Given the description of an element on the screen output the (x, y) to click on. 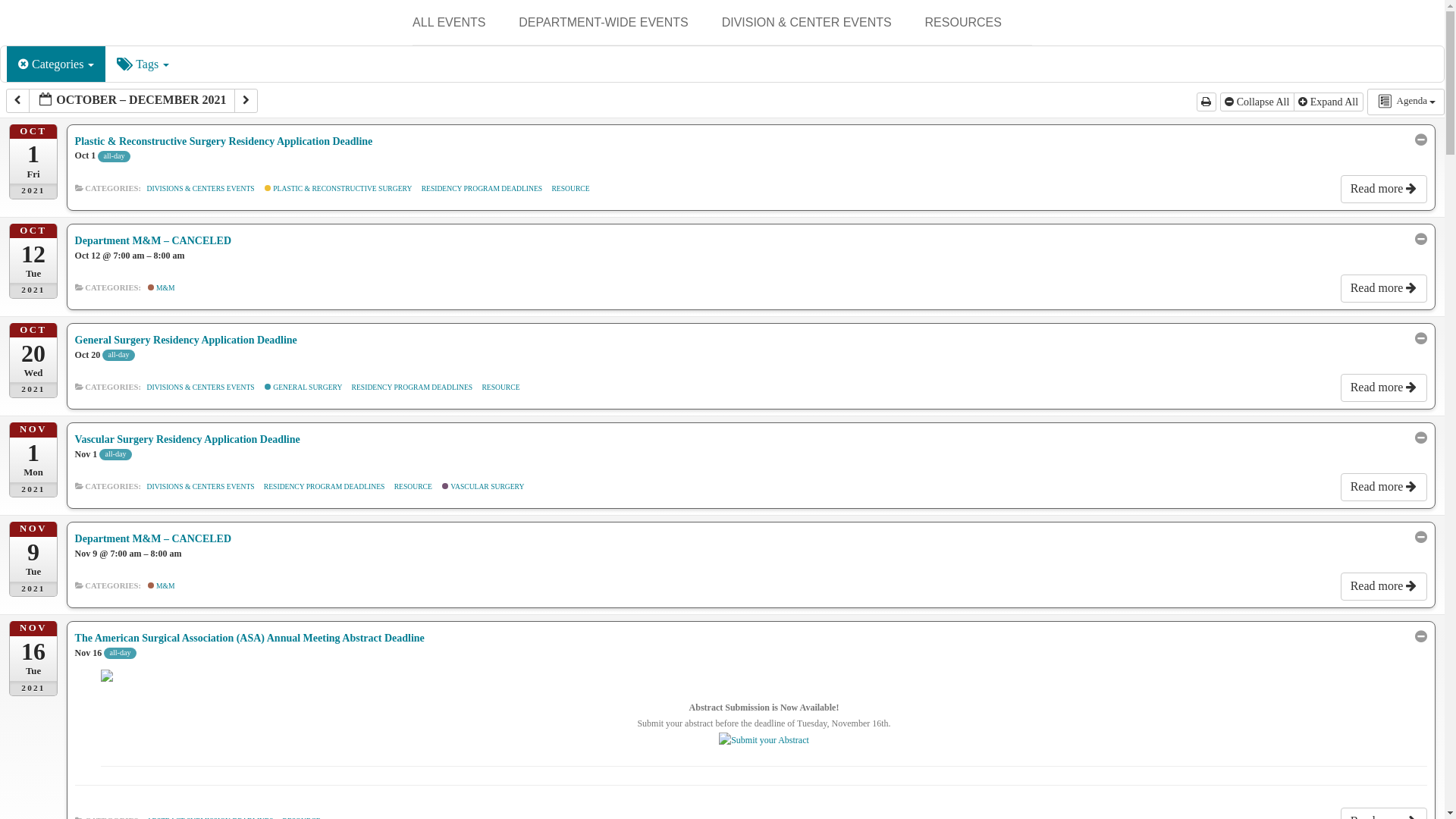
ALL EVENTS (448, 22)
Clear category filter (24, 63)
SURGERY GRAND ROUNDS (593, 61)
RESOURCES (962, 22)
Categories (55, 63)
ABDOMINAL TRANSPLANTATION (797, 72)
DEPARTMENT-WIDE EVENTS (602, 22)
